Given the description of an element on the screen output the (x, y) to click on. 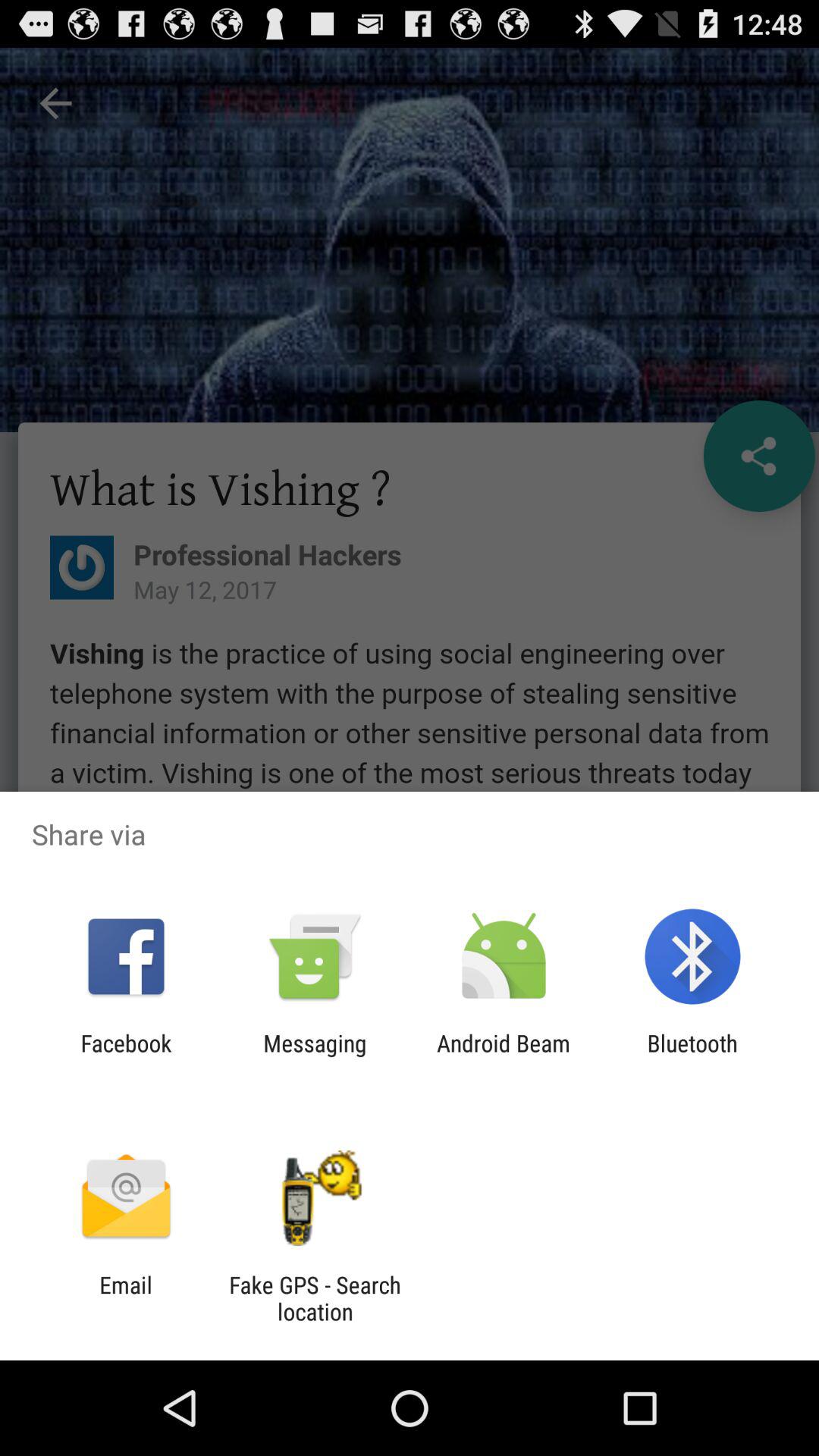
turn on item next to the android beam app (314, 1056)
